Given the description of an element on the screen output the (x, y) to click on. 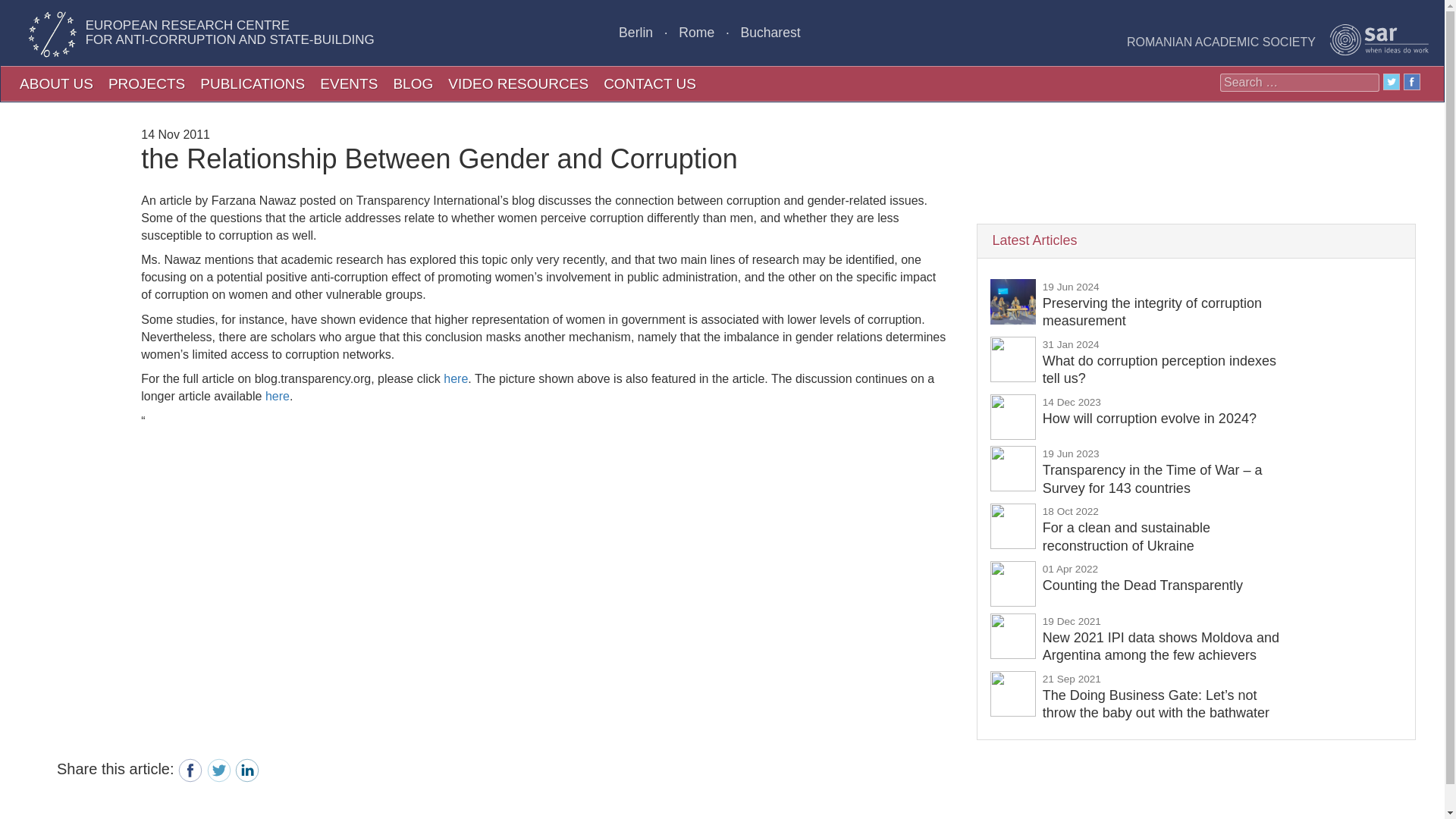
BLOG (412, 83)
Preserving the integrity of corruption measurement (1152, 303)
Counting the Dead Transparently (1142, 576)
For a clean and sustainable reconstruction of Ukraine (1125, 528)
PROJECTS (145, 83)
EVENTS (1142, 576)
